Given the description of an element on the screen output the (x, y) to click on. 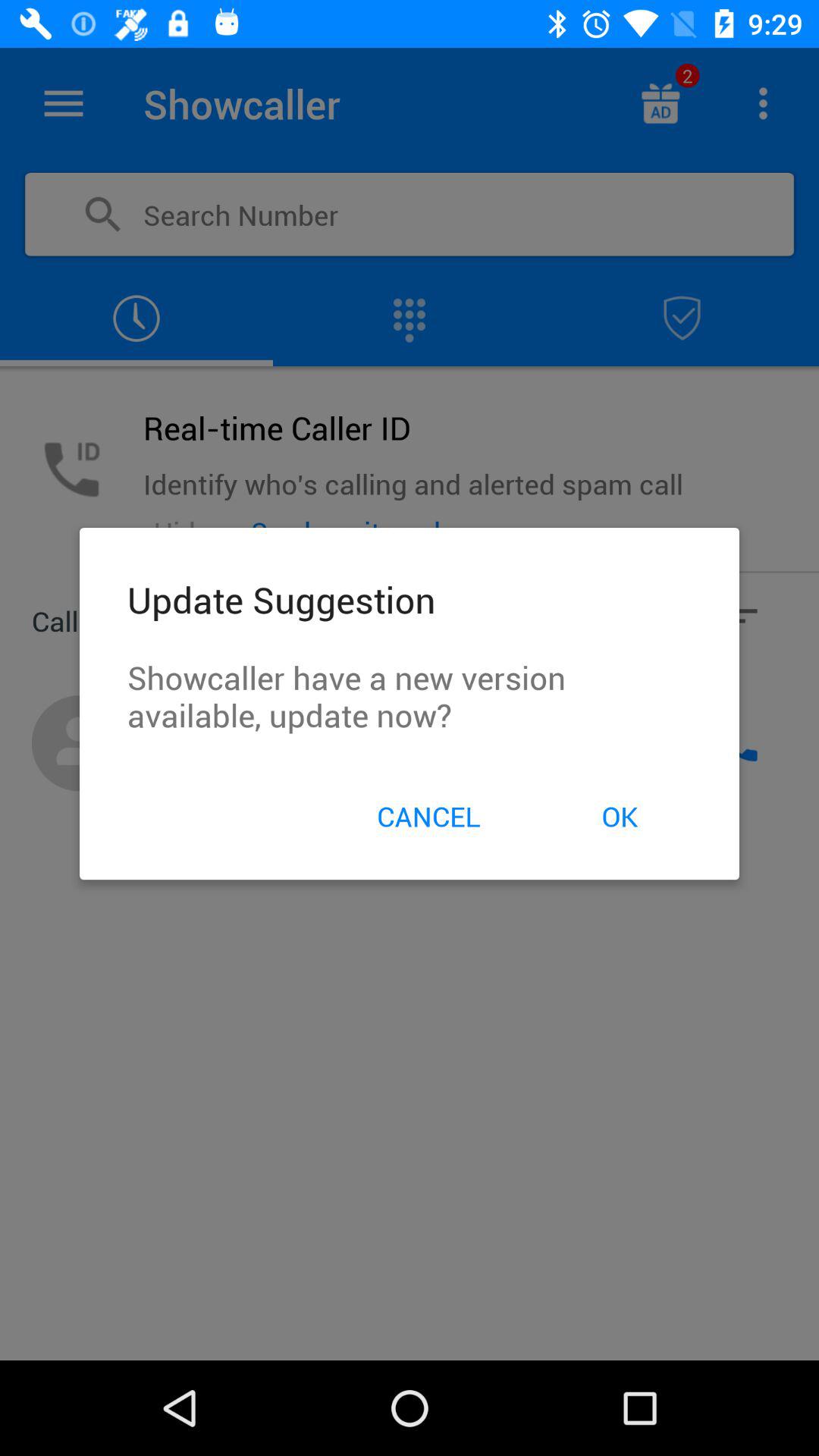
select the icon next to ok item (428, 815)
